Given the description of an element on the screen output the (x, y) to click on. 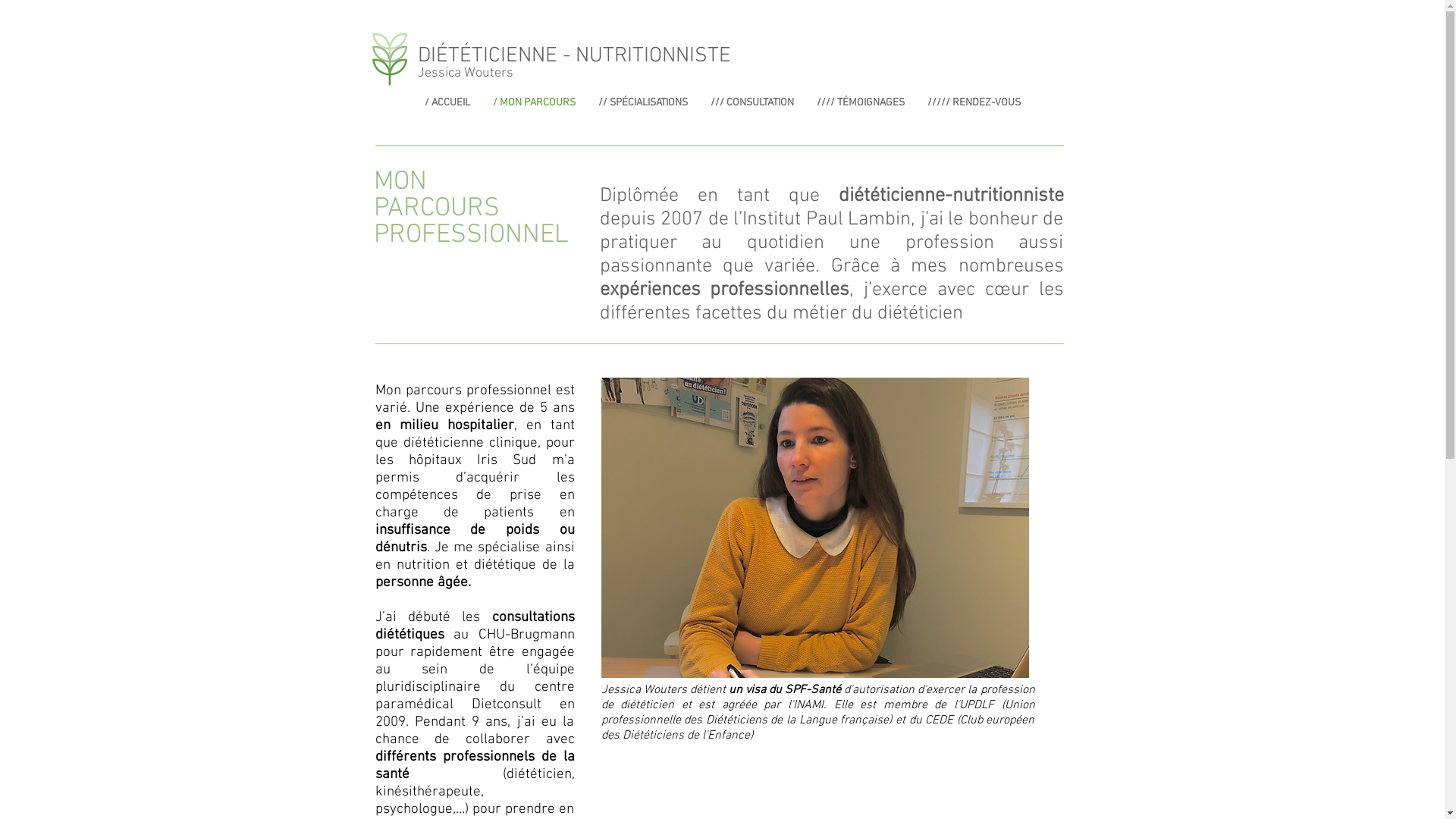
/// CONSULTATION Element type: text (752, 102)
///// RENDEZ-VOUS Element type: text (974, 102)
/ MON PARCOURS Element type: text (533, 102)
/ ACCUEIL Element type: text (446, 102)
